Given the description of an element on the screen output the (x, y) to click on. 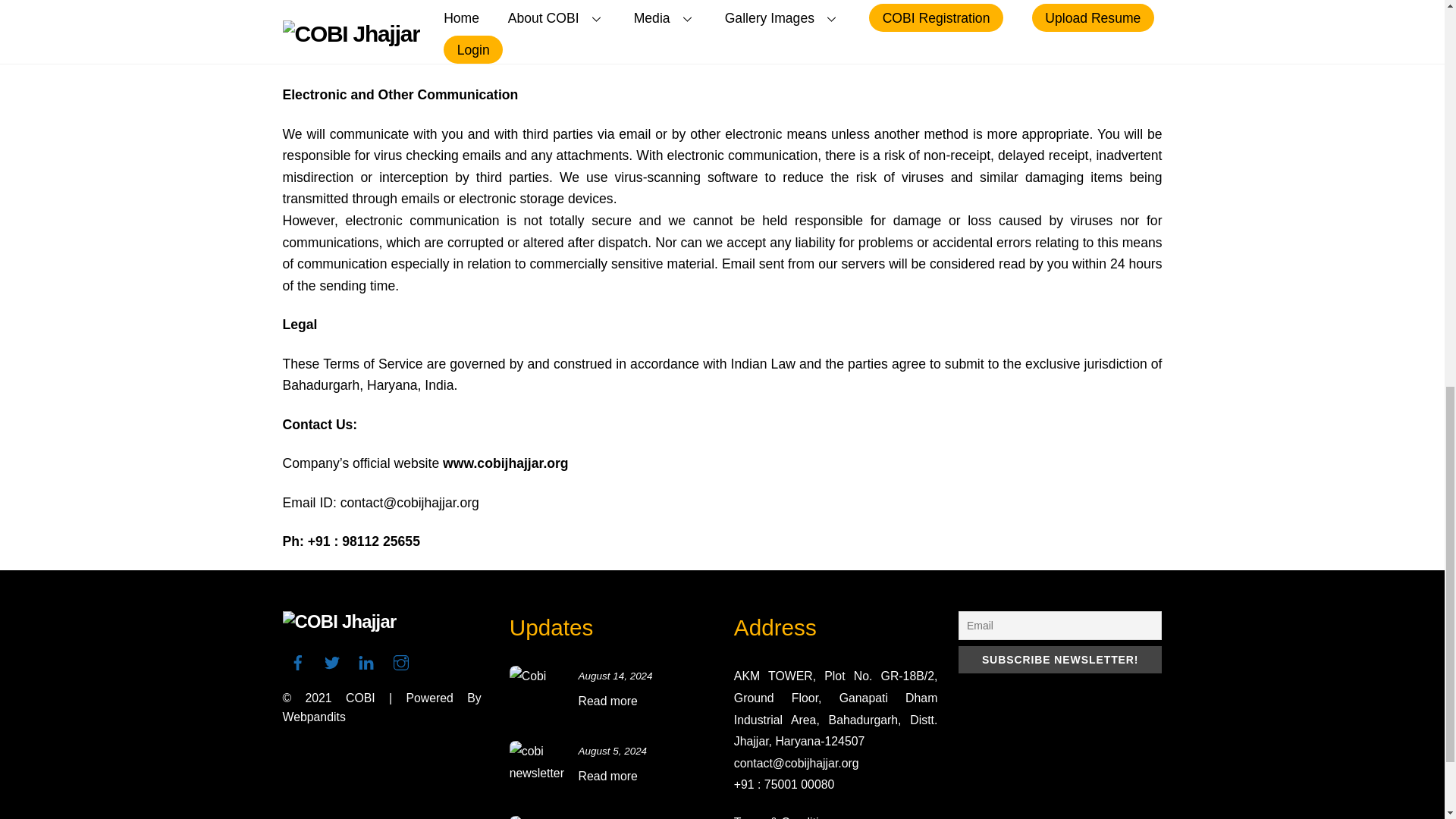
Read more (607, 700)
Webpandits (313, 716)
Read more (607, 775)
COBI (360, 697)
Subscribe Newsletter! (1059, 659)
newsletter (537, 769)
COBI Jhajjar (339, 620)
